Given the description of an element on the screen output the (x, y) to click on. 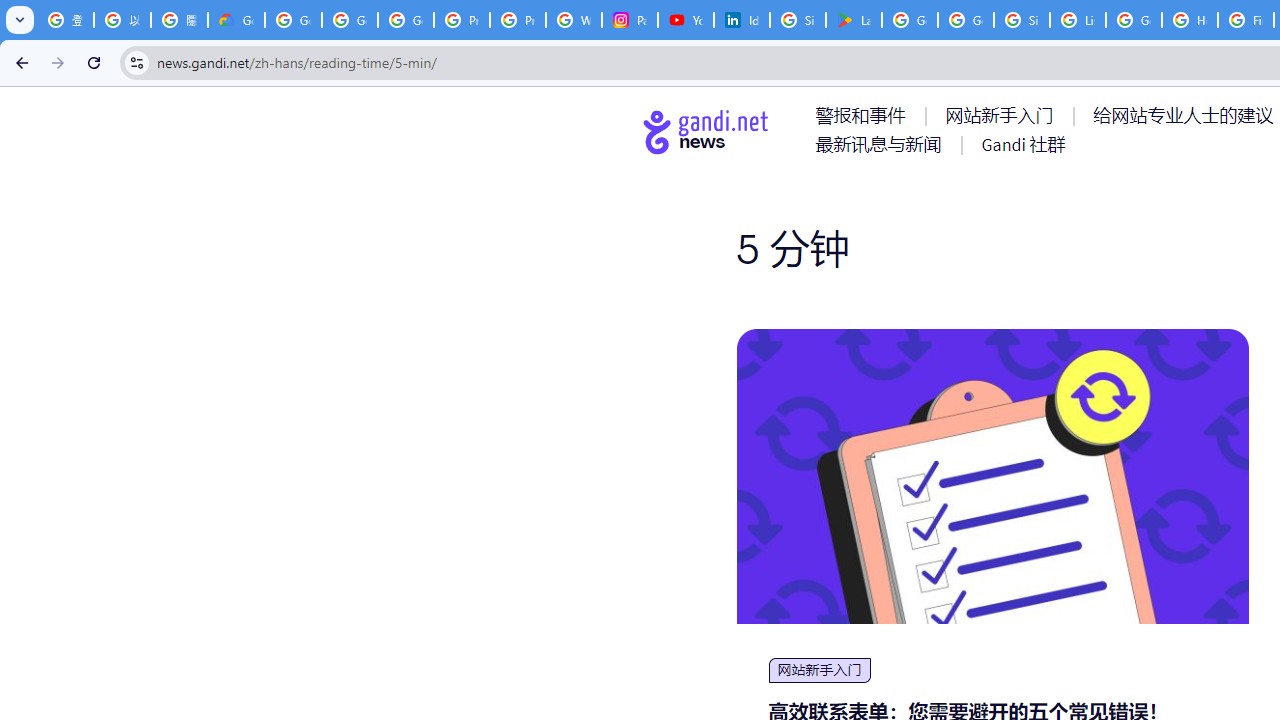
Last Shelter: Survival - Apps on Google Play (853, 20)
Google Workspace - Specific Terms (966, 20)
